Given the description of an element on the screen output the (x, y) to click on. 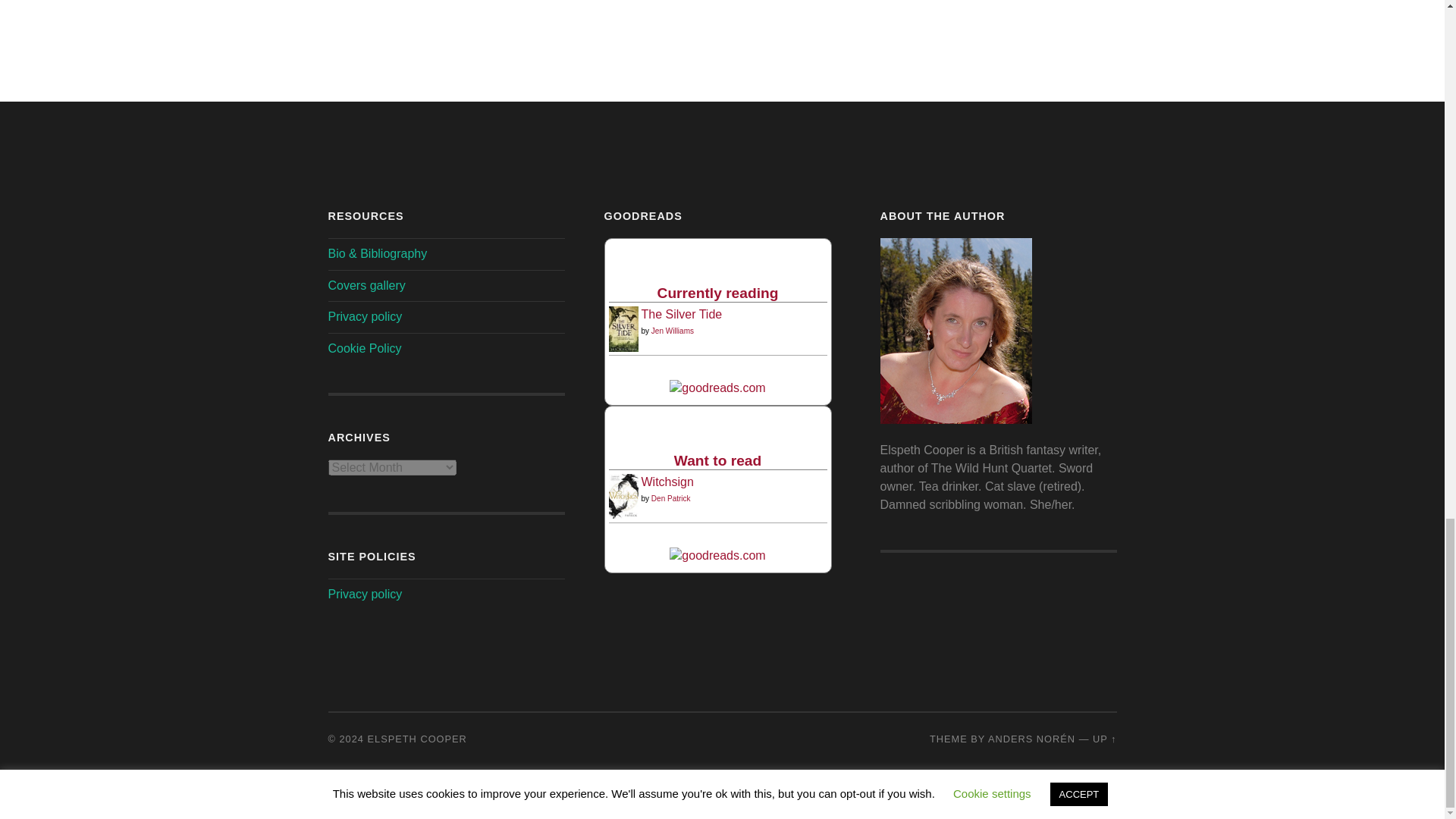
To the top (1104, 738)
